Given the description of an element on the screen output the (x, y) to click on. 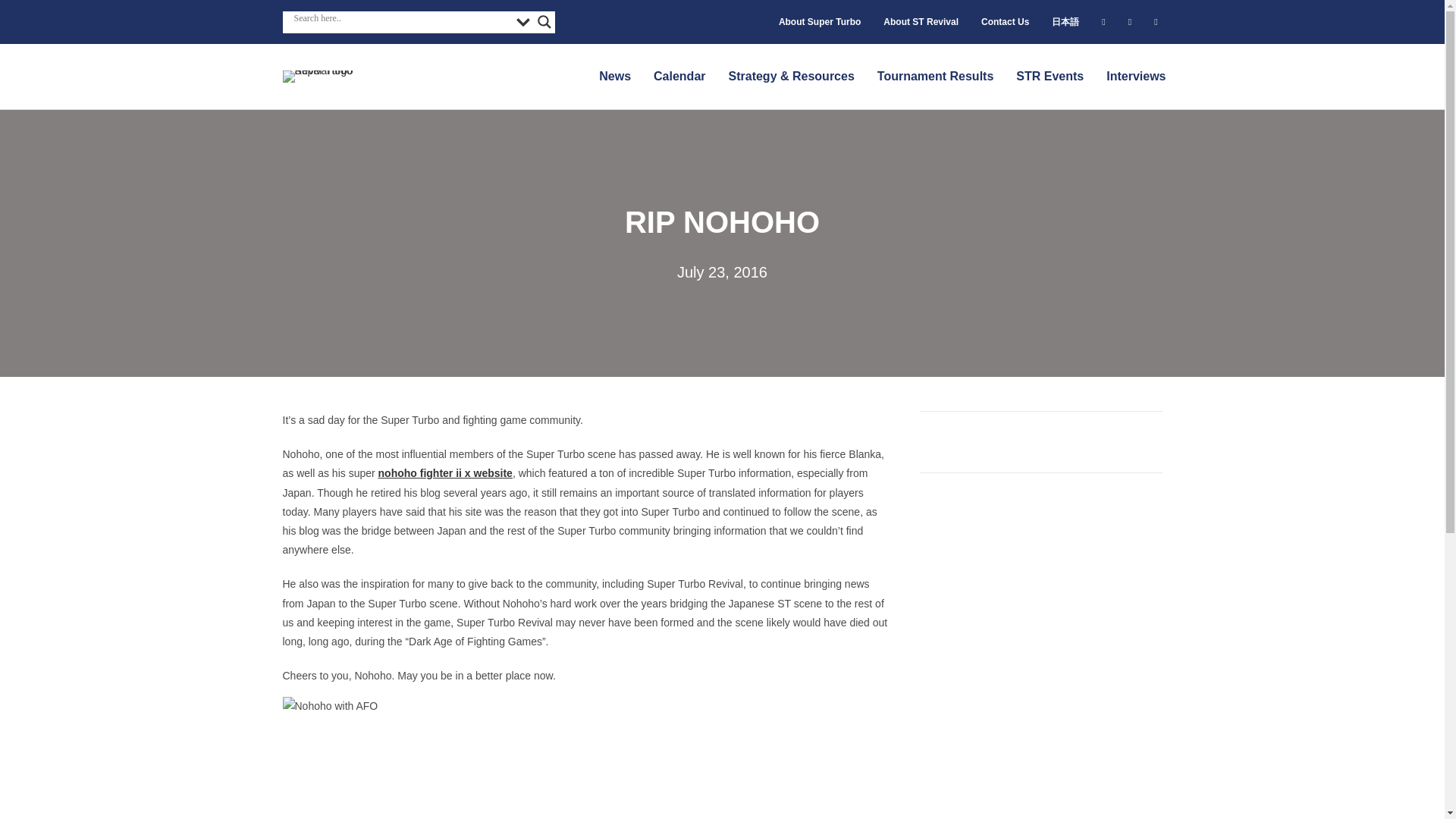
STR Events (1049, 76)
About ST Revival (921, 21)
Calendar (679, 76)
Tournament Results (935, 76)
About Super Turbo (819, 21)
Interviews (1136, 76)
Contact Us (1005, 21)
News (615, 76)
